Given the description of an element on the screen output the (x, y) to click on. 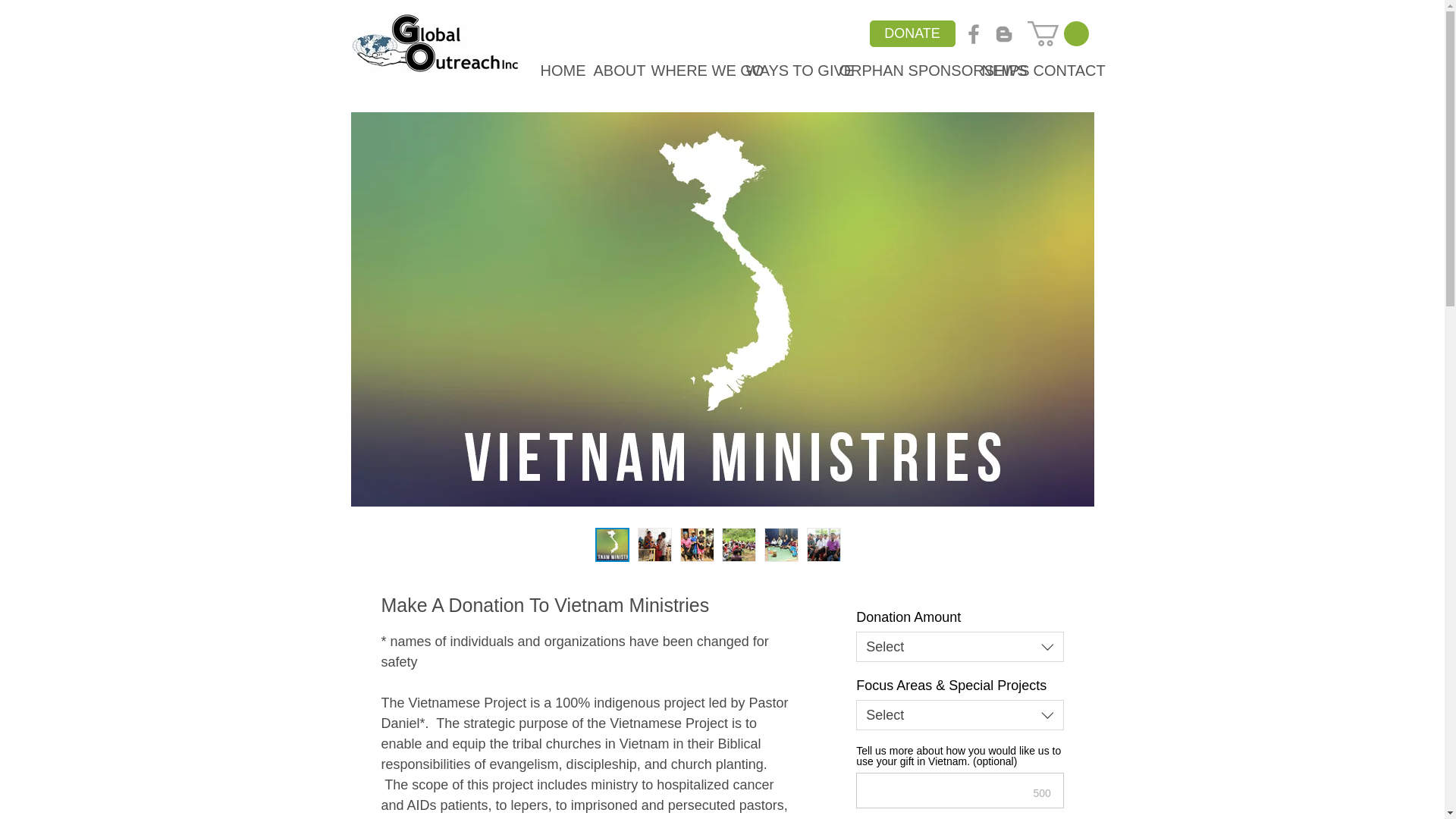
Select (959, 715)
CONTACT (1059, 70)
DONATE (912, 33)
Select (959, 646)
HOME (558, 70)
